Given the description of an element on the screen output the (x, y) to click on. 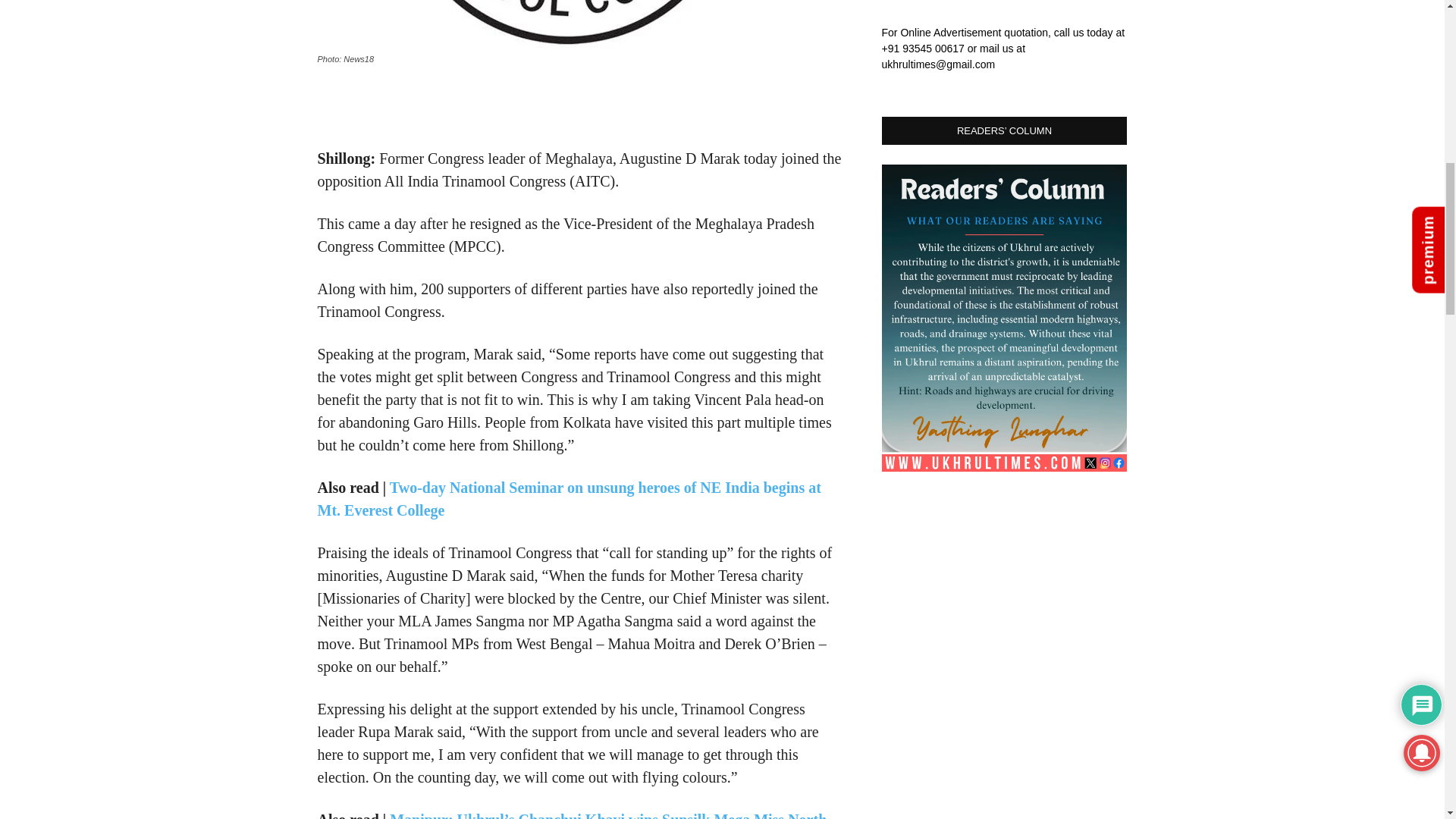
Photo: News18 (566, 24)
